Given the description of an element on the screen output the (x, y) to click on. 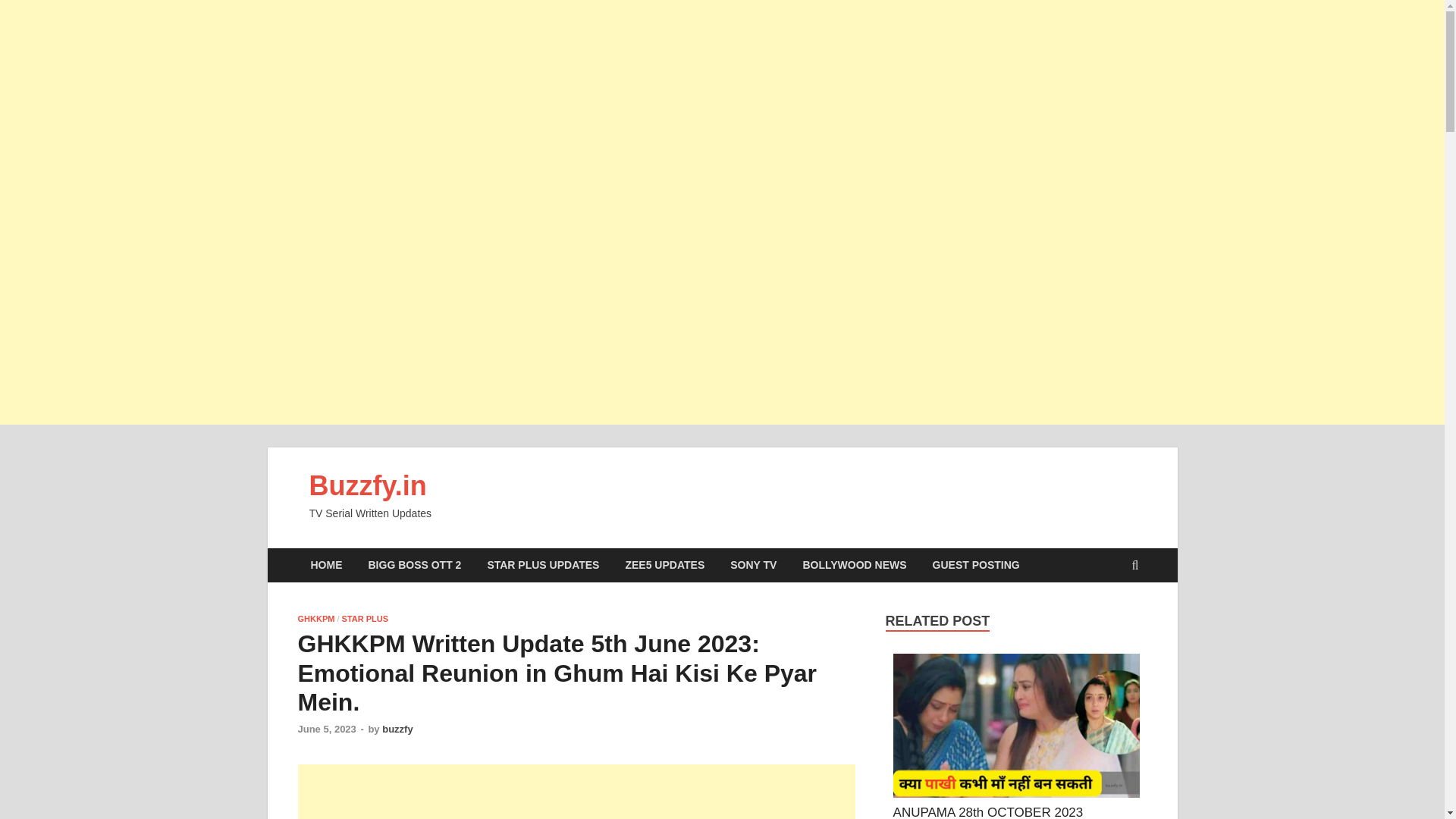
STAR PLUS UPDATES (542, 564)
BIGG BOSS OTT 2 (414, 564)
GUEST POSTING (976, 564)
Advertisement (575, 791)
STAR PLUS (365, 618)
SONY TV (753, 564)
ZEE5 UPDATES (664, 564)
BOLLYWOOD NEWS (853, 564)
Buzzfy.in (367, 485)
HOME (326, 564)
buzzfy (396, 728)
GHKKPM (315, 618)
June 5, 2023 (326, 728)
